Given the description of an element on the screen output the (x, y) to click on. 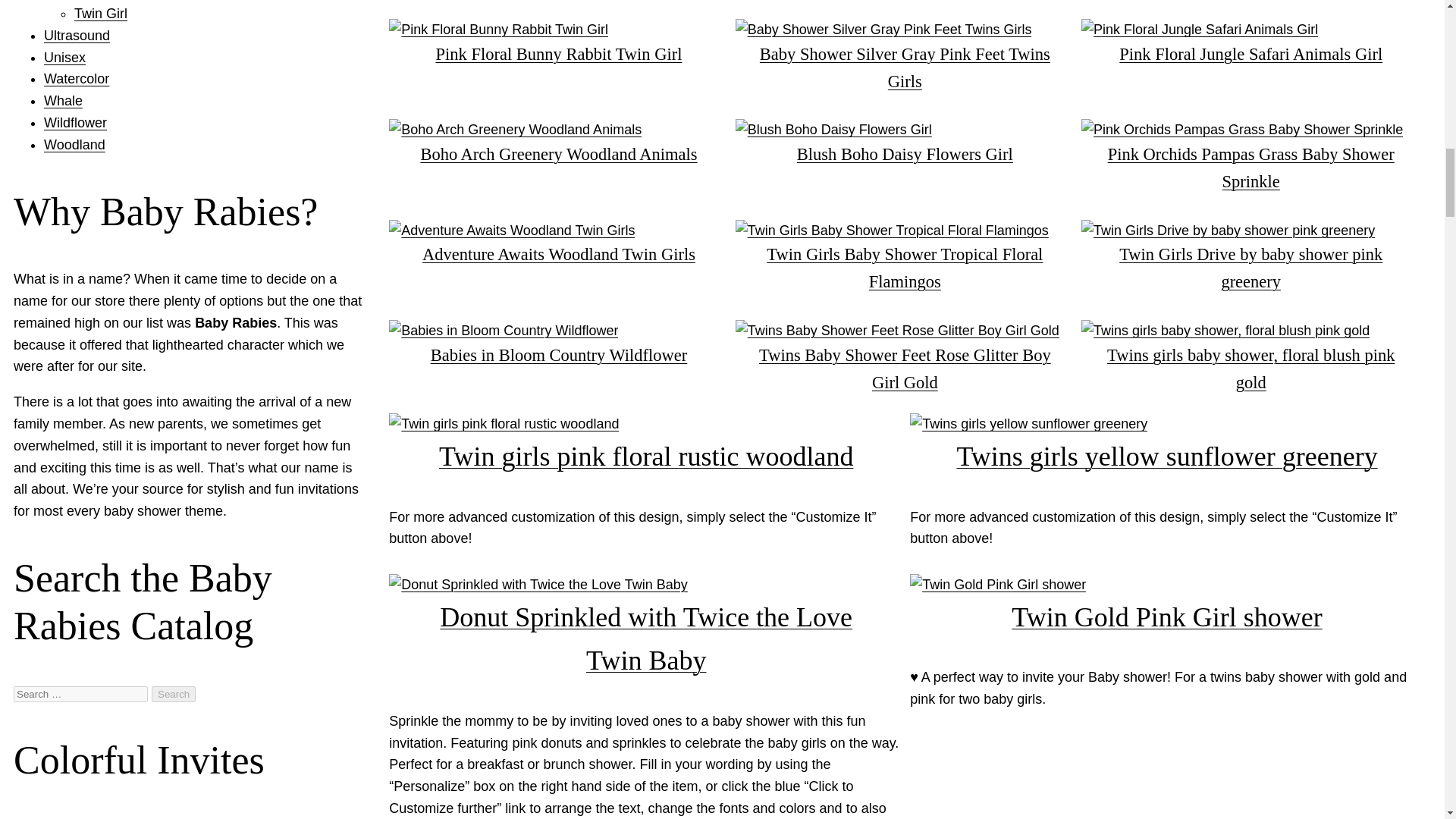
Twin Gold Pink Girl shower (1166, 608)
Pink Floral Bunny Rabbit Twin Girl (558, 44)
Blush Boho Daisy Flowers Girl (904, 145)
Donut Sprinkled with Twice the Love Twin Baby (645, 630)
Search (173, 693)
Search (173, 693)
Twin Girls Baby Shower Tropical Floral Flamingos (904, 259)
Boho Arch Greenery Woodland Animals (558, 145)
Pink Orchids Pampas Grass Baby Shower Sprinkle (1251, 158)
Babies in Bloom Country Wildflower (558, 345)
Baby Shower Silver Gray Pink Feet Twins Girls (904, 58)
Adventure Awaits Woodland Twin Girls (558, 245)
Pink Floral Jungle Safari Animals Girl (1251, 44)
Twins girls yellow sunflower greenery (1166, 447)
Twin girls pink floral rustic woodland (645, 447)
